Given the description of an element on the screen output the (x, y) to click on. 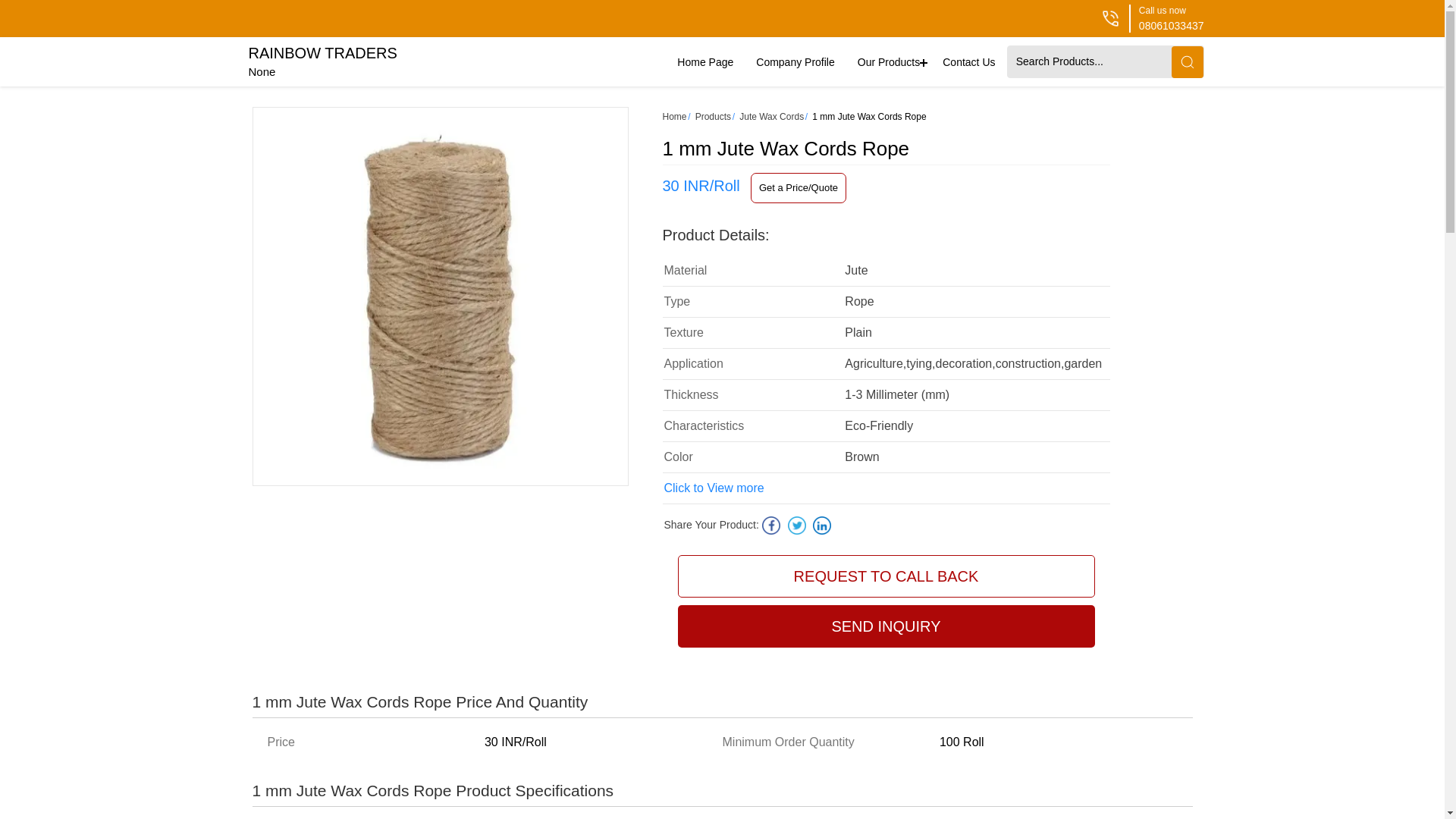
Company Profile (794, 61)
Home Page (704, 61)
Our Products (888, 61)
Search (322, 60)
Search Products... (1186, 61)
Search Products... (1089, 60)
submit (1089, 60)
